Given the description of an element on the screen output the (x, y) to click on. 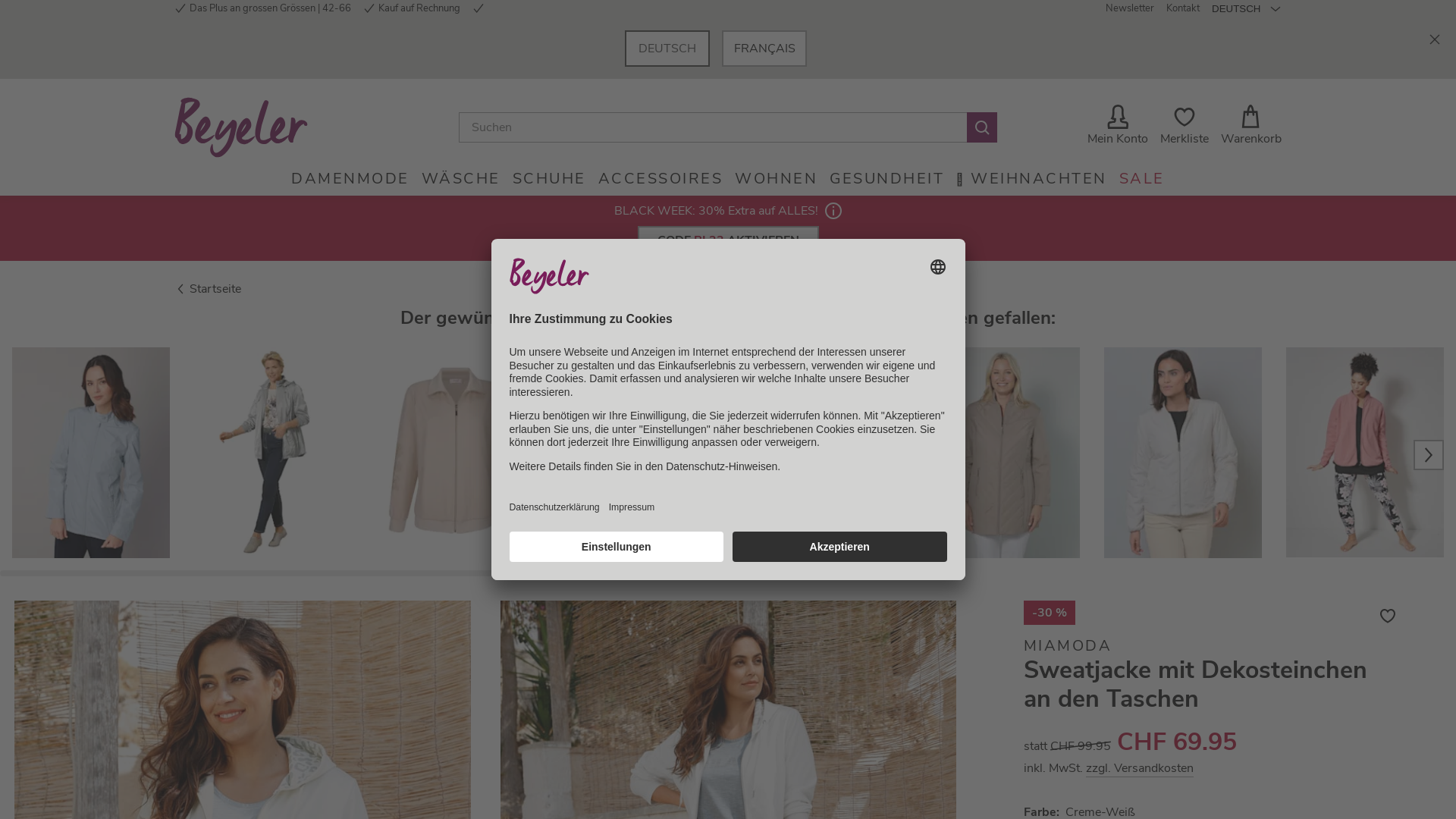
WOHNEN Element type: text (775, 178)
Startseite Element type: text (207, 288)
Newsletter Element type: text (1129, 8)
SALE Element type: text (1141, 178)
SCHUHE Element type: text (549, 178)
Mein Konto Element type: text (1117, 126)
CODE 
BL23
 AKTIVIEREN Element type: text (727, 239)
Kontakt Element type: text (1182, 8)
ACCESSOIRES Element type: text (660, 178)
Merkliste Element type: text (1184, 126)
DAMENMODE Element type: text (350, 178)
zzgl. Versandkosten Element type: text (1139, 767)
Auf die Merkliste Element type: hover (1387, 615)
Warenkorb Element type: text (1250, 126)
GESUNDHEIT Element type: text (886, 178)
DEUTSCH Element type: text (666, 48)
